Given the description of an element on the screen output the (x, y) to click on. 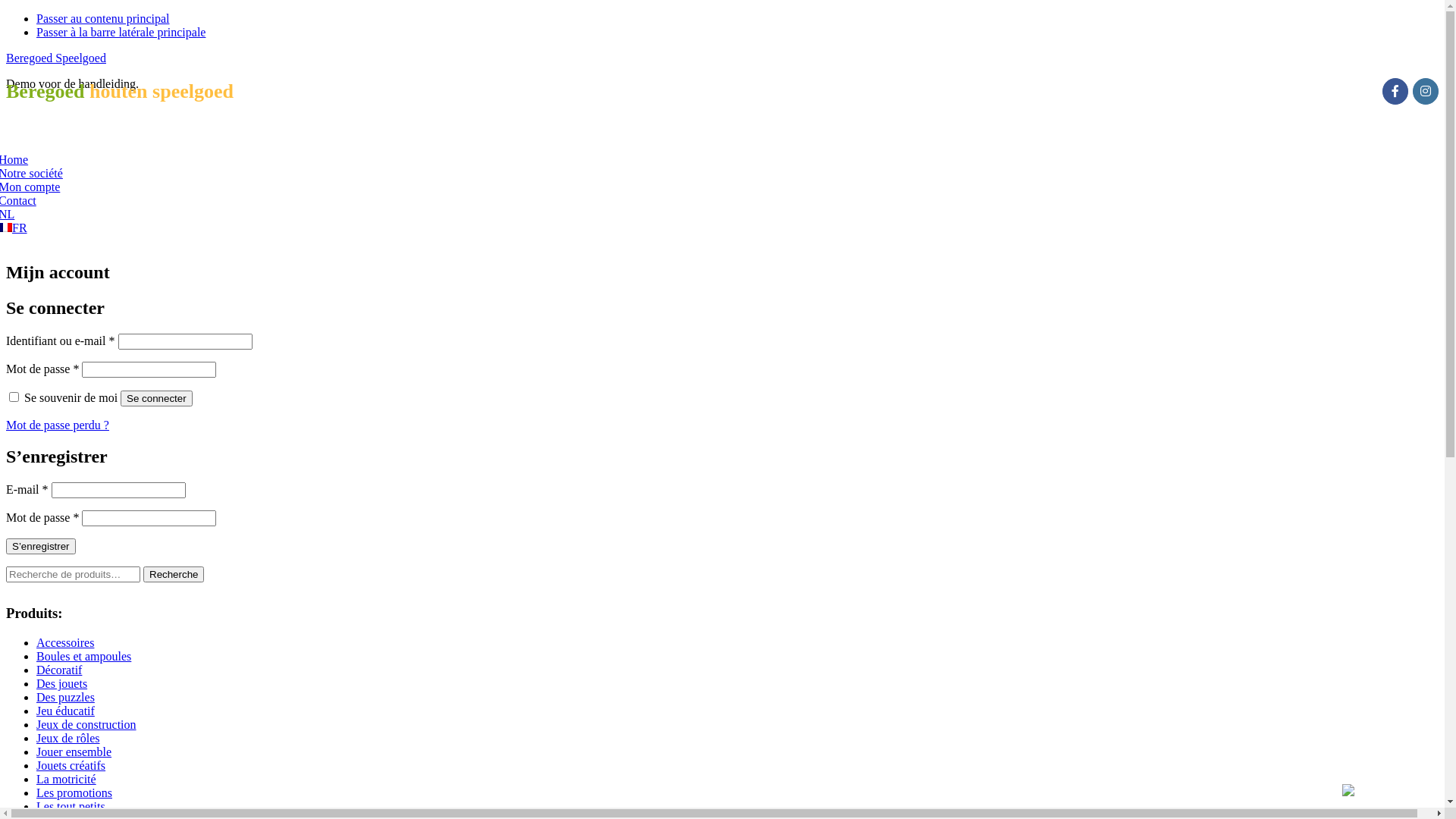
Mot de passe perdu ? Element type: text (57, 424)
Les promotions Element type: text (74, 792)
Boules et ampoules Element type: text (83, 655)
Recherche Element type: text (173, 574)
Des puzzles Element type: text (65, 696)
Passer au contenu principal Element type: text (102, 18)
Jeux de construction Element type: text (86, 724)
Se connecter Element type: text (156, 398)
Beregoed Speelgoed sur Instagram Element type: hover (1425, 91)
Des jouets Element type: text (61, 683)
Beregoed Speelgoed sur Facebook Element type: hover (1395, 91)
Jouer ensemble Element type: text (73, 751)
Beregoed Speelgoed Element type: text (56, 57)
Accessoires Element type: text (65, 642)
Les tout petits Element type: text (70, 806)
